Given the description of an element on the screen output the (x, y) to click on. 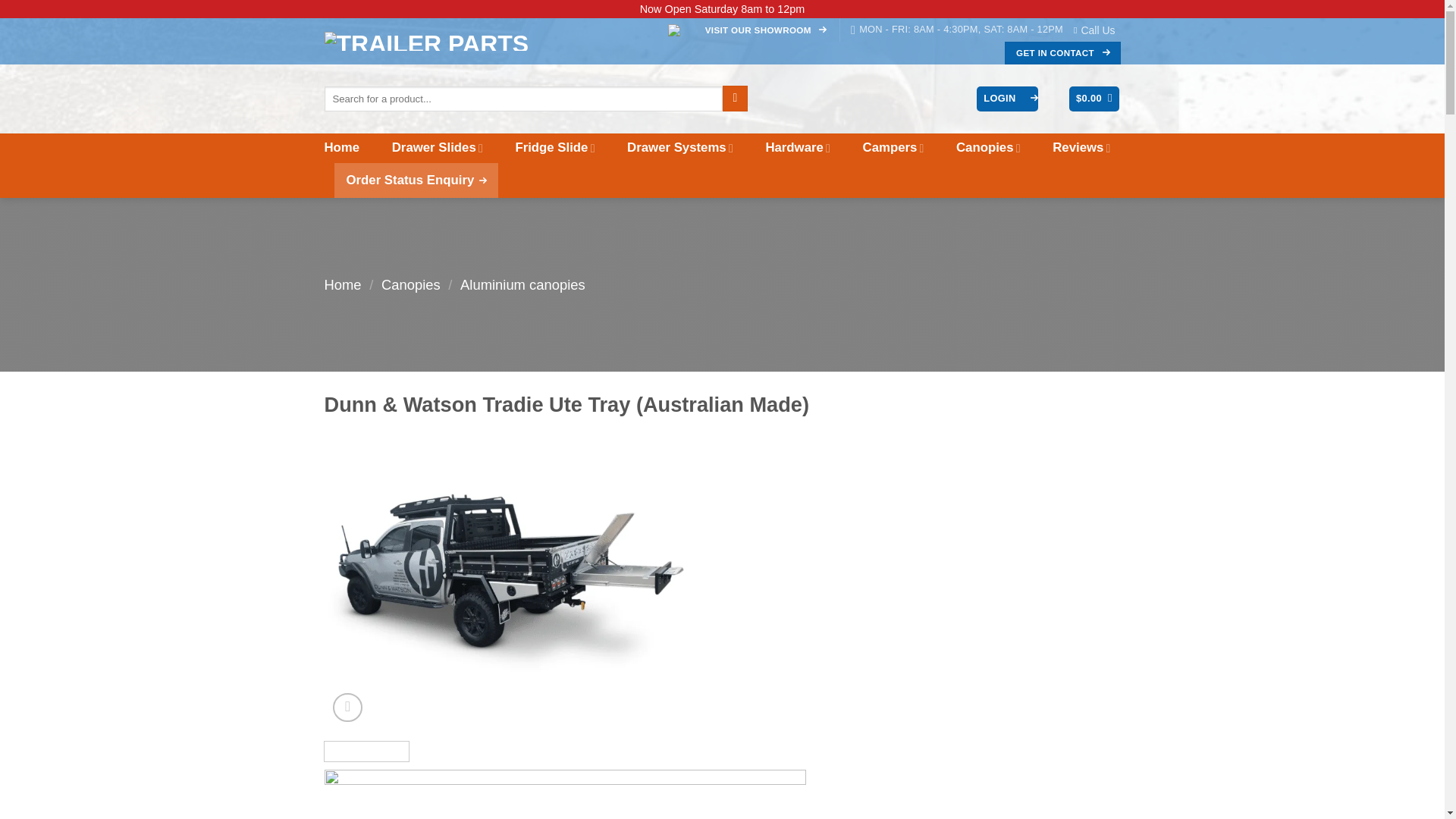
LOGIN (1006, 98)
Cart (1093, 98)
MON - FRI: 8AM - 4:30PM, SAT: 8AM - 12PM (956, 29)
Login (1006, 98)
Zoom (347, 707)
Drawer Slides (437, 147)
Call Us (1097, 30)
Mon - Fri: 8am - 4:30pm, Sat: 8am - 12pm  (956, 29)
Search (735, 98)
Home (341, 147)
